Given the description of an element on the screen output the (x, y) to click on. 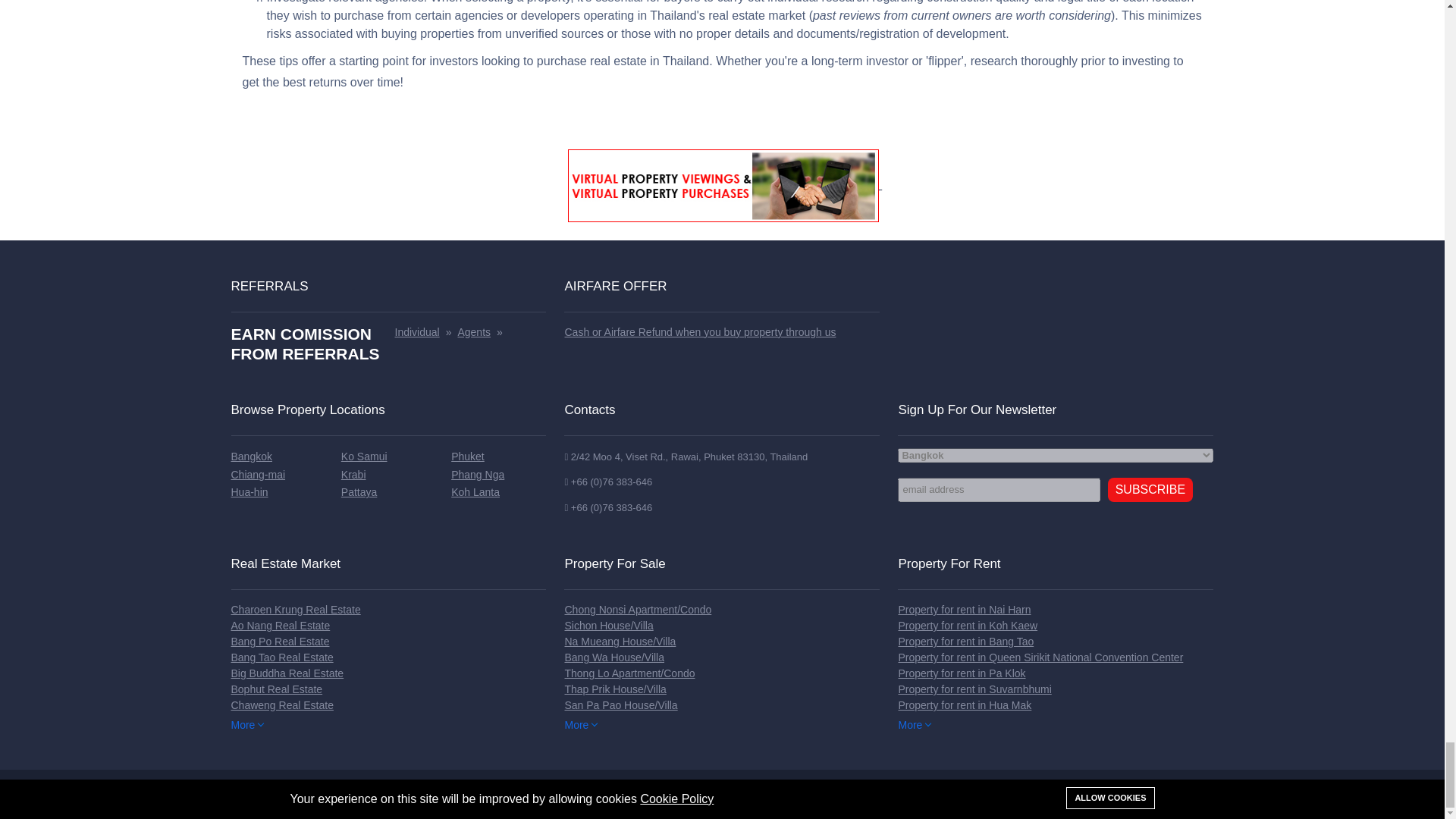
Subscribe (1150, 489)
